Given the description of an element on the screen output the (x, y) to click on. 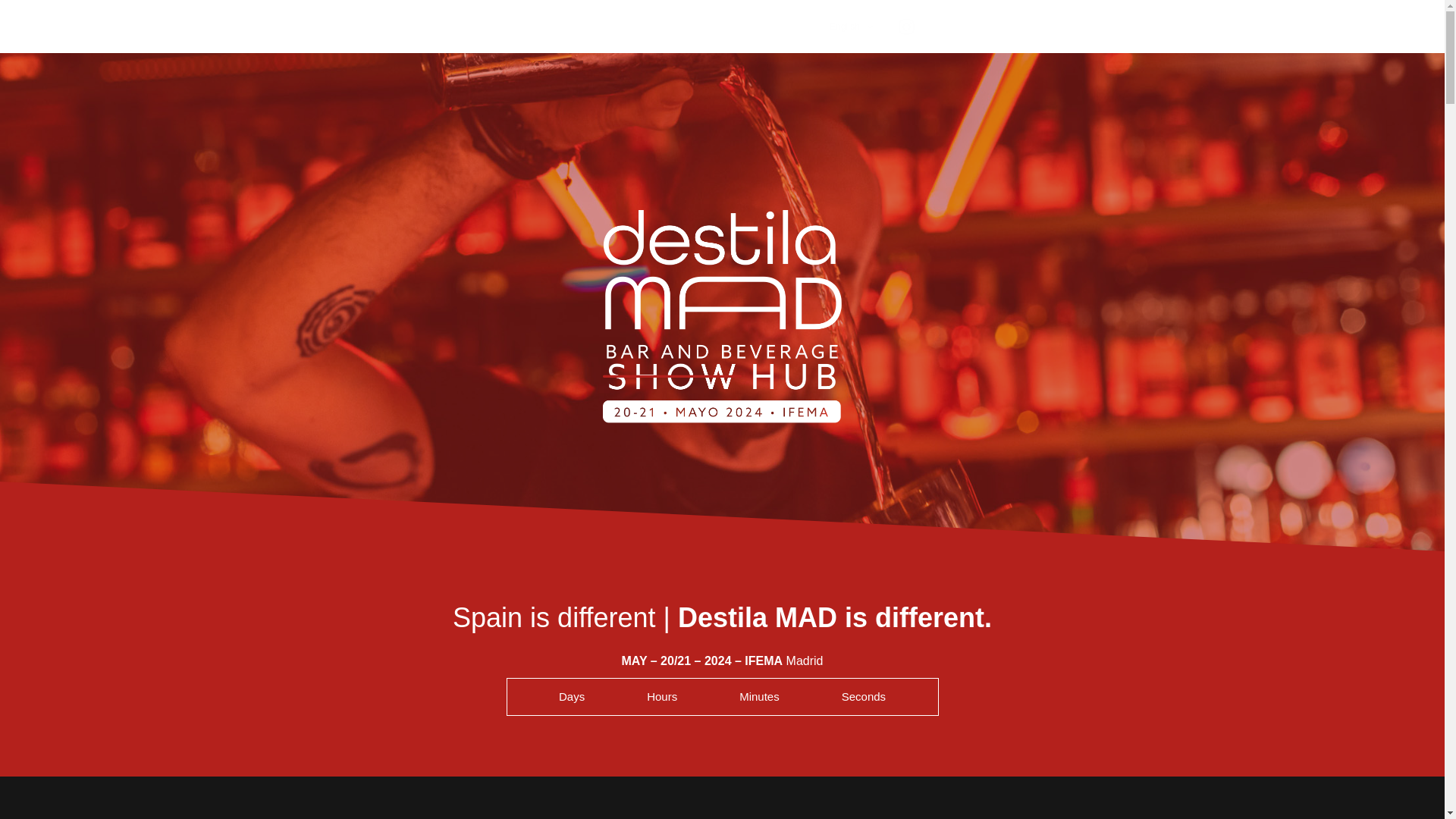
English (851, 26)
Contact (795, 26)
Spaces (586, 26)
Who we are (735, 26)
Program (674, 26)
